Given the description of an element on the screen output the (x, y) to click on. 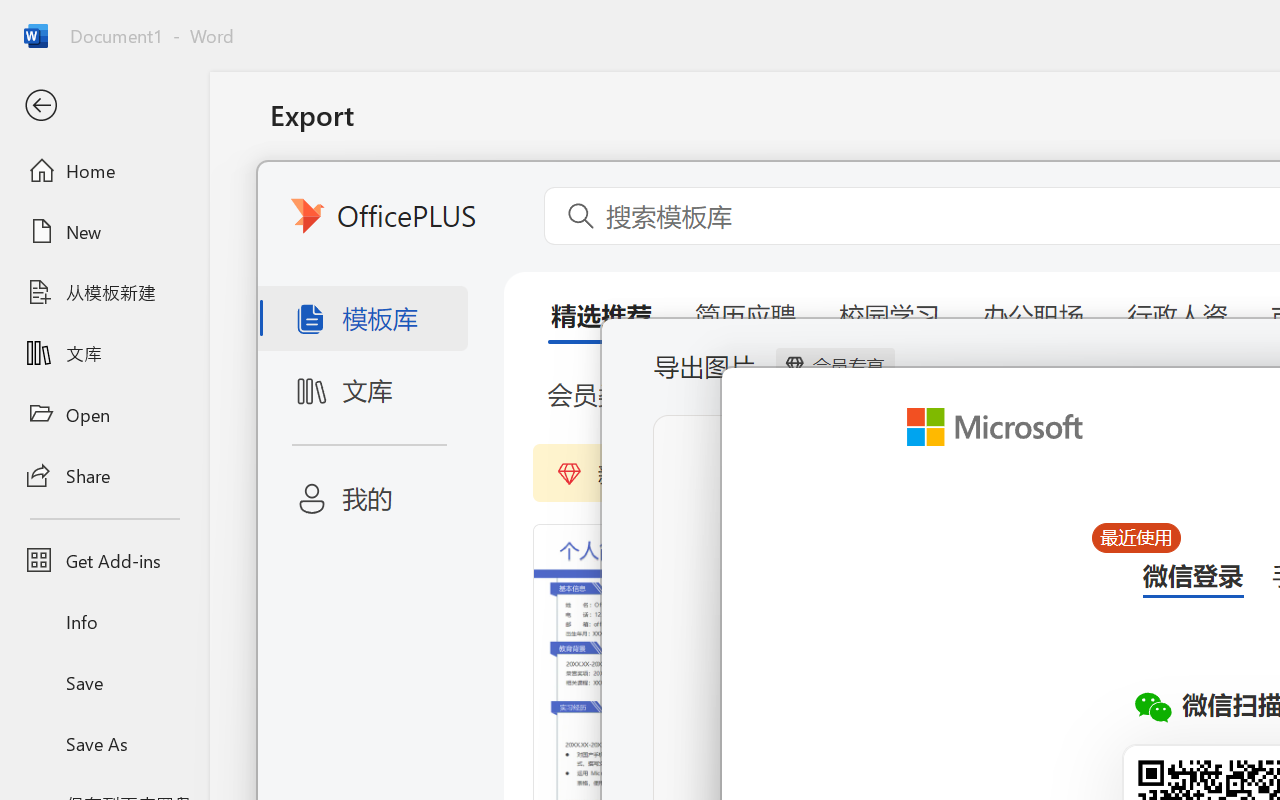
Change File Type (507, 291)
Back (104, 106)
New (104, 231)
Get Add-ins (104, 560)
